Given the description of an element on the screen output the (x, y) to click on. 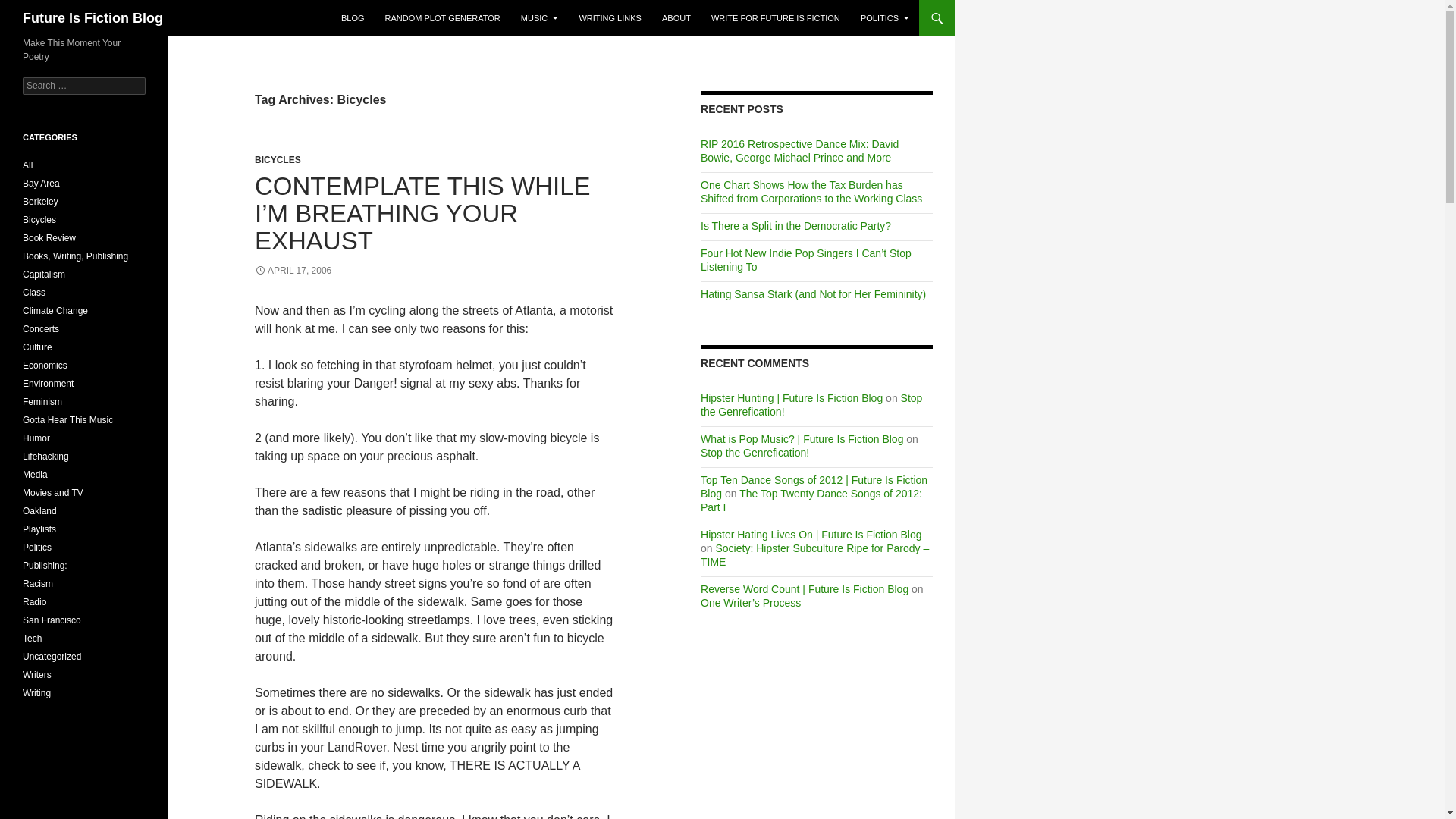
ABOUT (676, 18)
Stop the Genrefication! (810, 404)
APRIL 17, 2006 (292, 270)
RANDOM PLOT GENERATOR (442, 18)
WRITE FOR FUTURE IS FICTION (774, 18)
Is There a Split in the Democratic Party? (795, 225)
POLITICS (884, 18)
BICYCLES (277, 159)
BLOG (352, 18)
MUSIC (539, 18)
WRITING LINKS (609, 18)
Future Is Fiction Blog (93, 18)
